Given the description of an element on the screen output the (x, y) to click on. 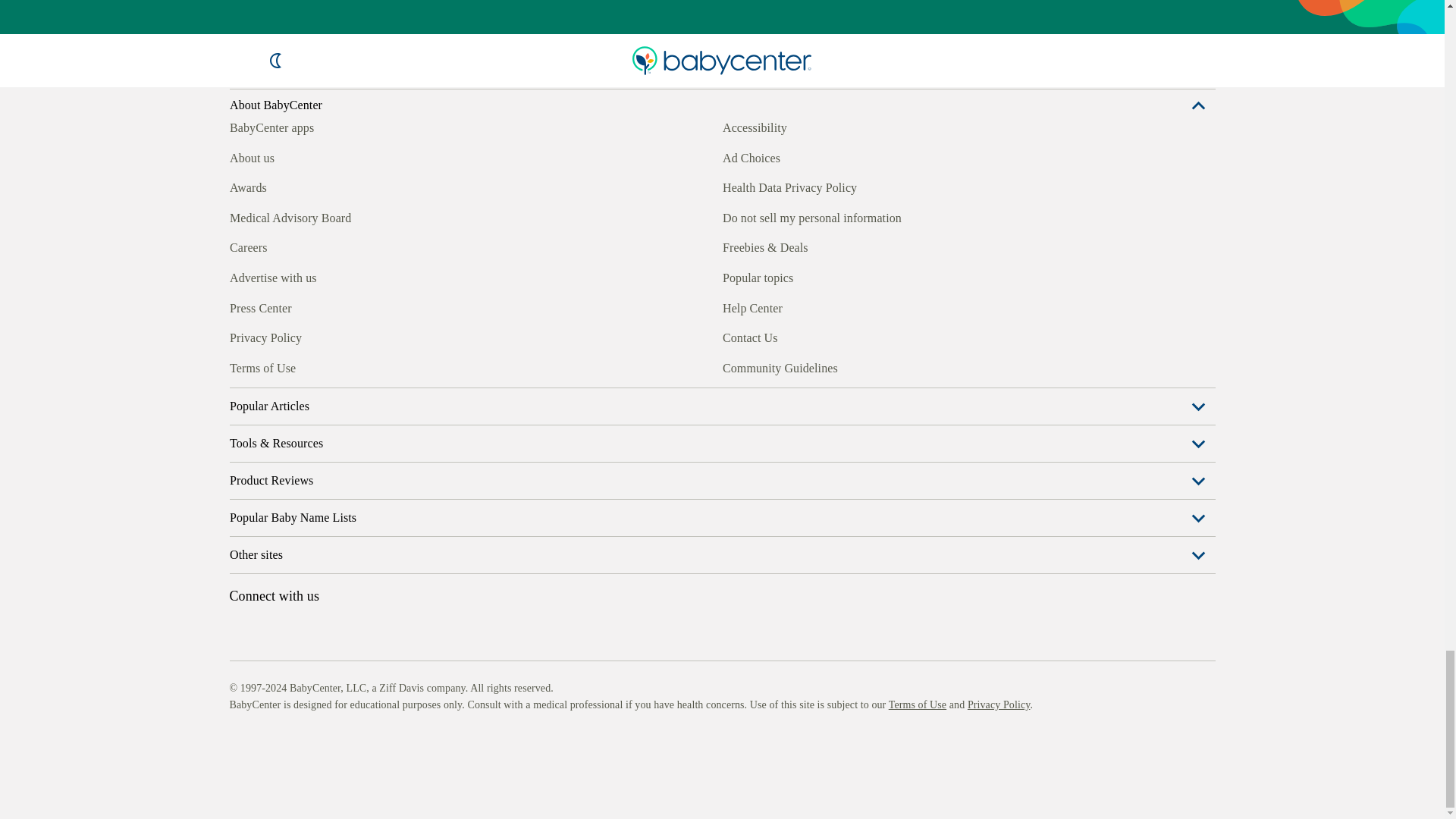
BabyCenter YouTube channel (344, 404)
BabyCenter Facebook page (239, 404)
BabyCenter Twitter feed (379, 404)
BabyCenter Instagram feed (274, 404)
BabyCenter Pinterest board (309, 404)
